Given the description of an element on the screen output the (x, y) to click on. 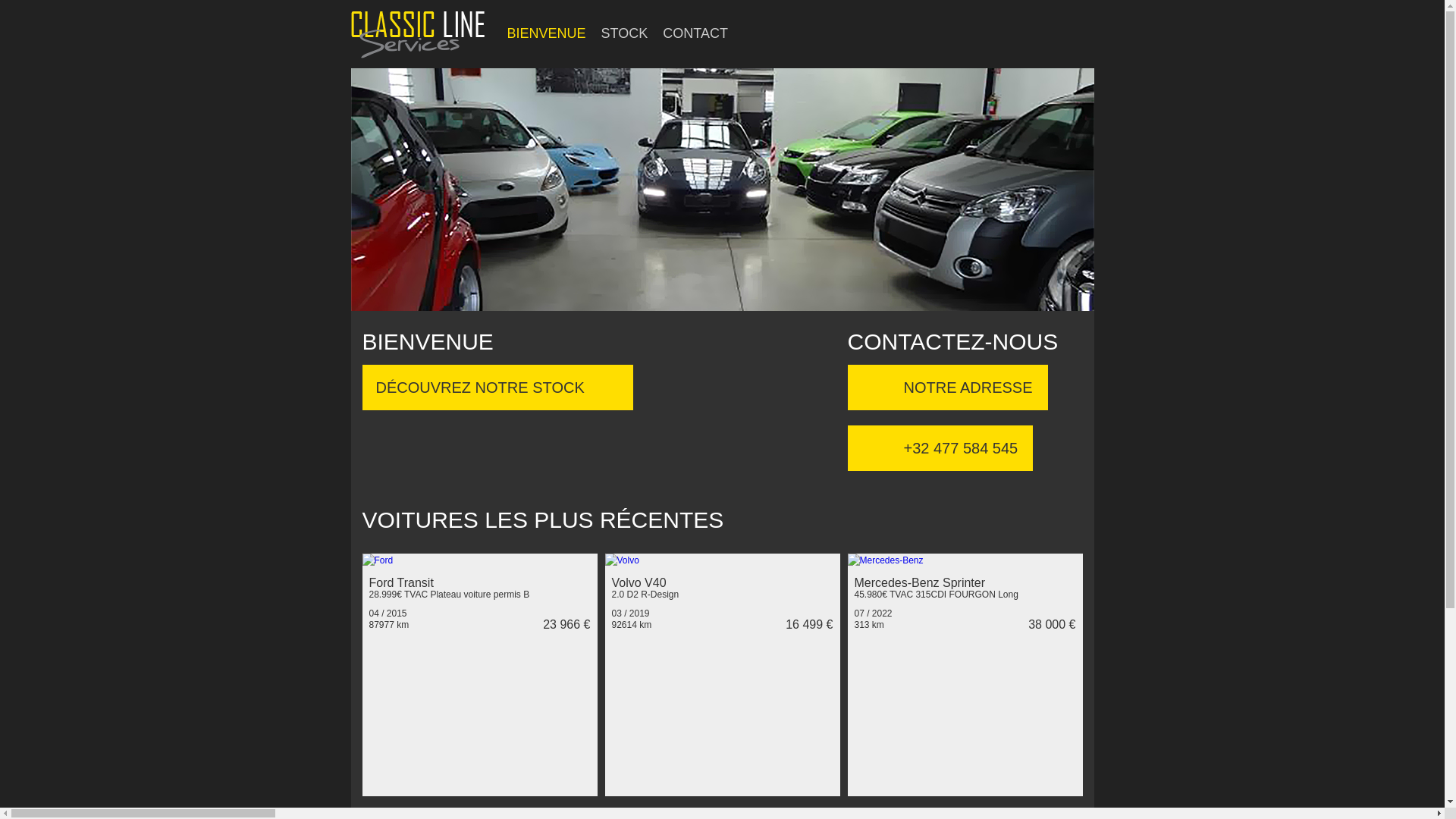
CLASSIC LINE SERVICES Element type: text (411, 594)
CONTACT Element type: text (695, 33)
UTILITAIRES Element type: text (721, 554)
SERVICES TRANSPORT TOUTE LA FRANCE Element type: text (422, 567)
Volvo Element type: hover (622, 560)
STOCK Element type: text (624, 33)
CLASSIC LINE SERVICES Element type: text (411, 608)
Ford Element type: hover (377, 560)
BIENVENUE Element type: text (545, 33)
NOTRE ADRESSE Element type: text (947, 387)
Mercedes-Benz Element type: hover (885, 560)
SERVICES TRANSPORT SUR DEVIS Element type: text (433, 581)
